Given the description of an element on the screen output the (x, y) to click on. 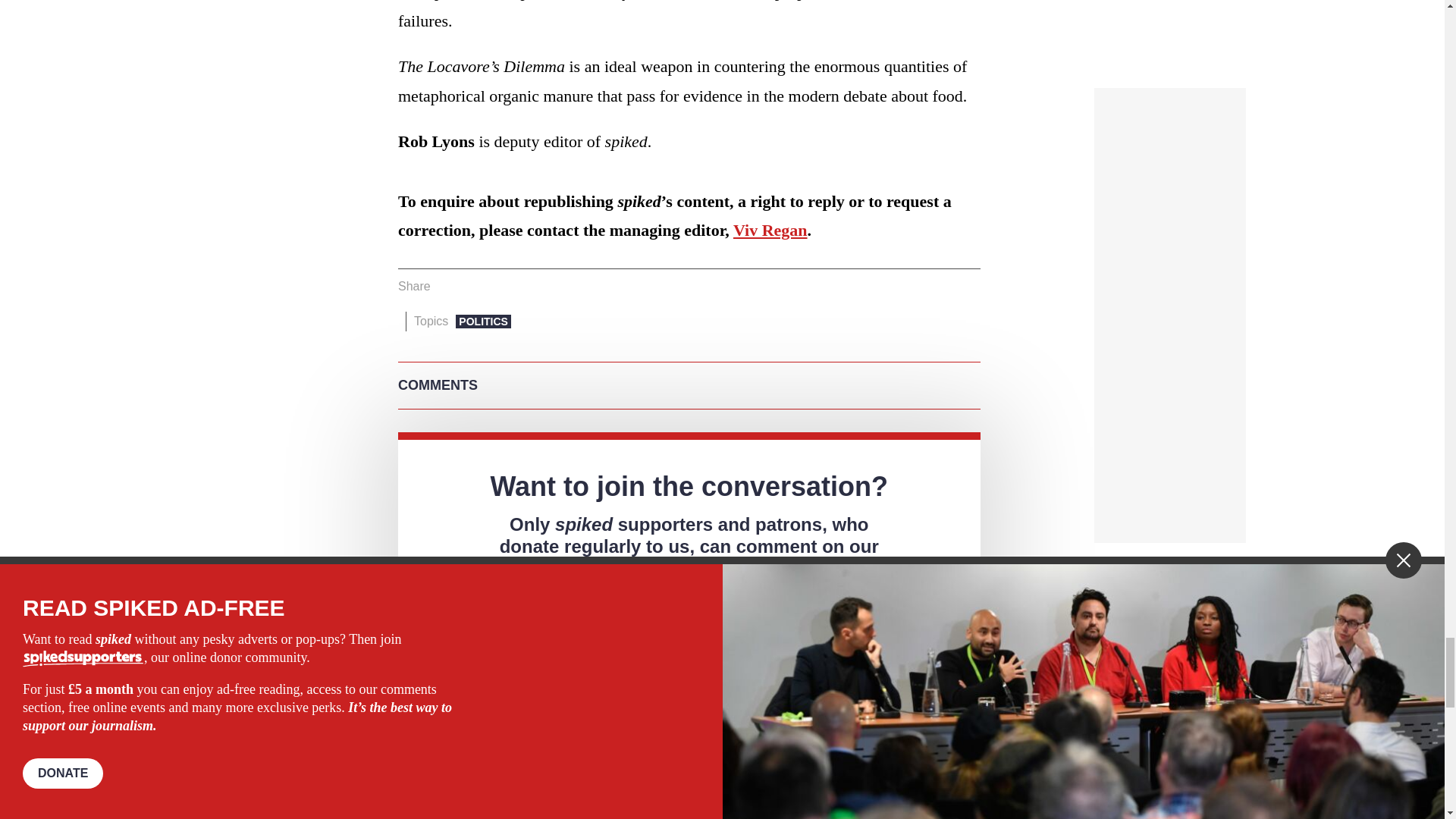
Share on Whatsapp (494, 286)
Share on Twitter (471, 286)
Share on Facebook (448, 286)
Share on Email (518, 286)
